Given the description of an element on the screen output the (x, y) to click on. 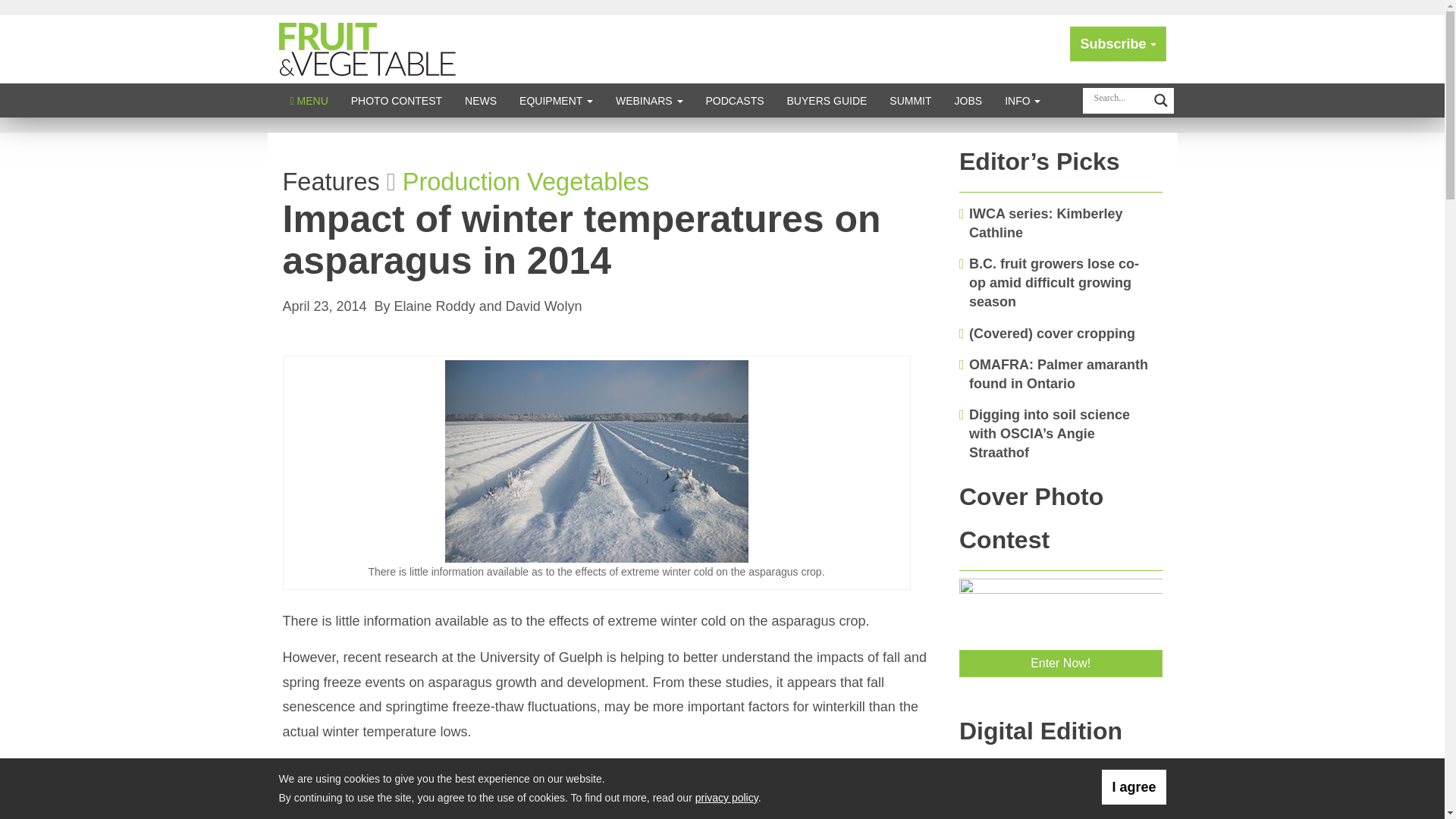
WEBINARS (649, 100)
Subscribe (1118, 43)
EQUIPMENT (556, 100)
MENU (309, 100)
PODCASTS (735, 100)
SUMMIT (909, 100)
INFO (1021, 100)
PHOTO CONTEST (395, 100)
BUYERS GUIDE (827, 100)
NEWS (480, 100)
